Given the description of an element on the screen output the (x, y) to click on. 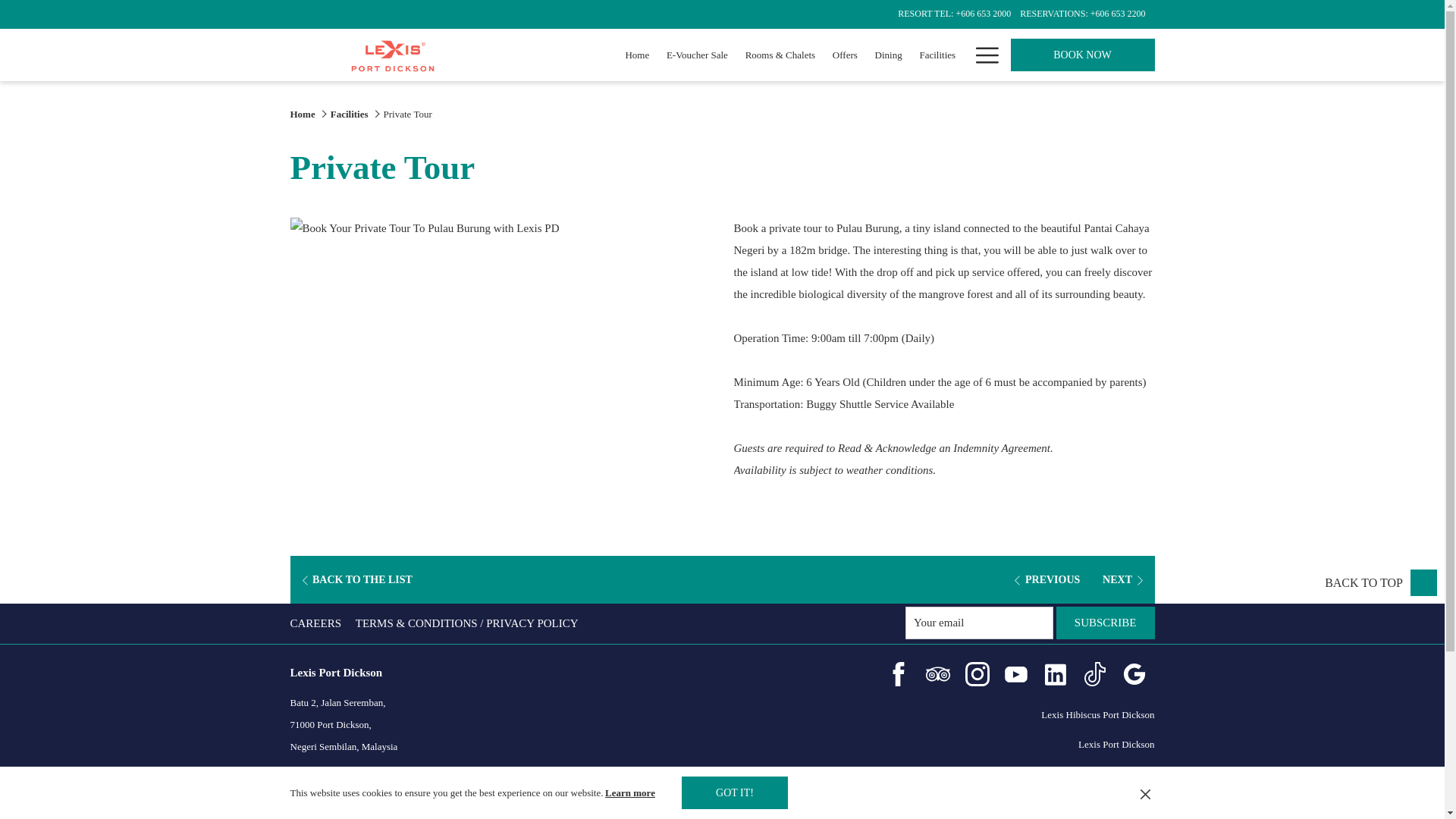
Menu (986, 55)
Facilities (937, 54)
GOT IT! (734, 792)
E-Voucher Sale (697, 54)
BOOK NOW (1082, 54)
Back to the homepage (392, 54)
Learn more (631, 792)
